Given the description of an element on the screen output the (x, y) to click on. 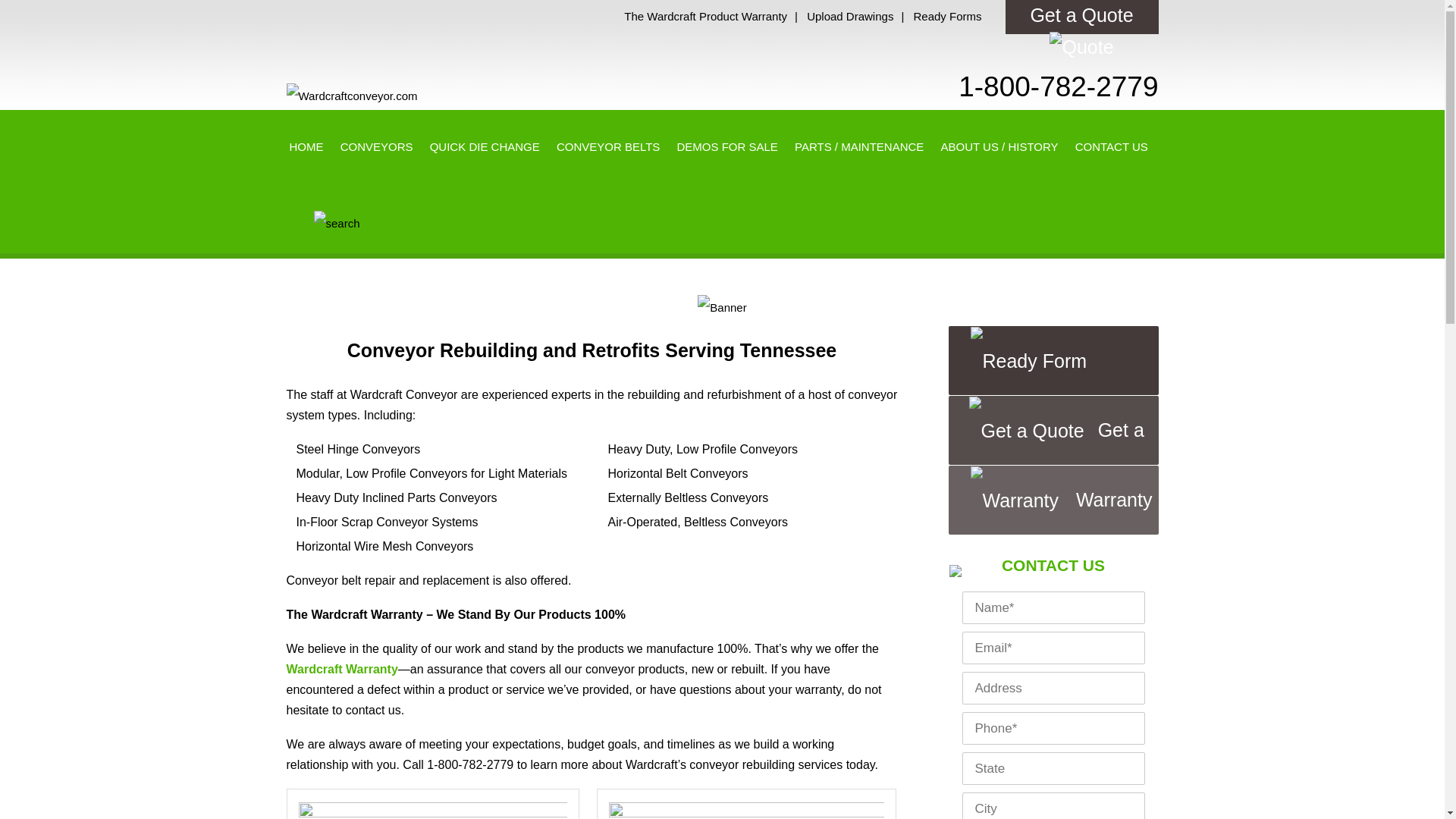
Get a Quote (1082, 17)
The Wardcraft Product Warranty (705, 15)
Get a Quote (1026, 431)
Wardcraftconveyor.com (351, 95)
Ready Forms (946, 15)
Banner (721, 307)
Warranty (1014, 500)
Upload Drawings (849, 15)
Ready Form (1029, 360)
Quote (1081, 46)
